Given the description of an element on the screen output the (x, y) to click on. 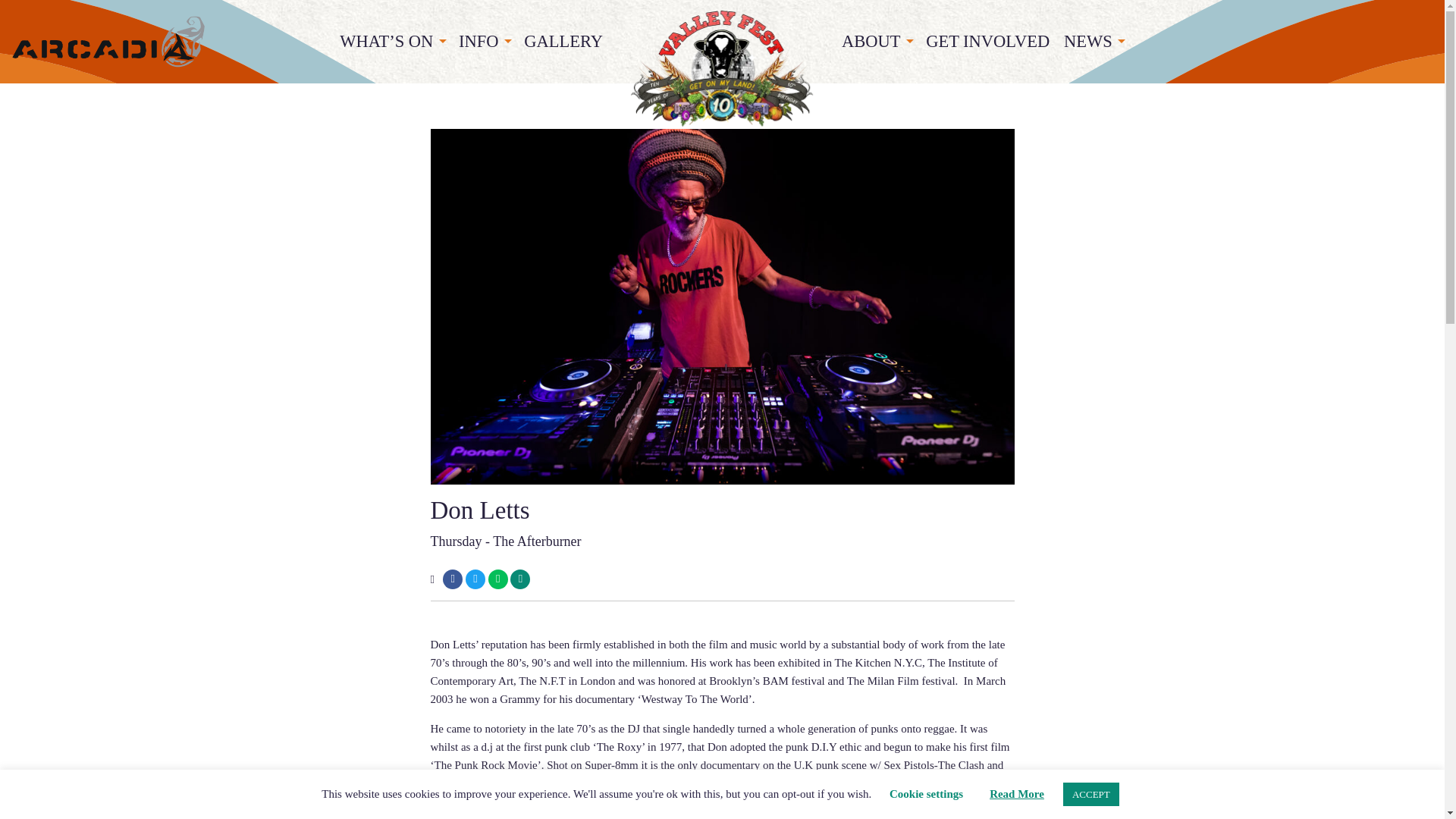
Share on Twitter (474, 578)
INFO (484, 42)
Share on Whatsapp (497, 578)
Share via email (520, 578)
Share on Facebook (452, 578)
